Given the description of an element on the screen output the (x, y) to click on. 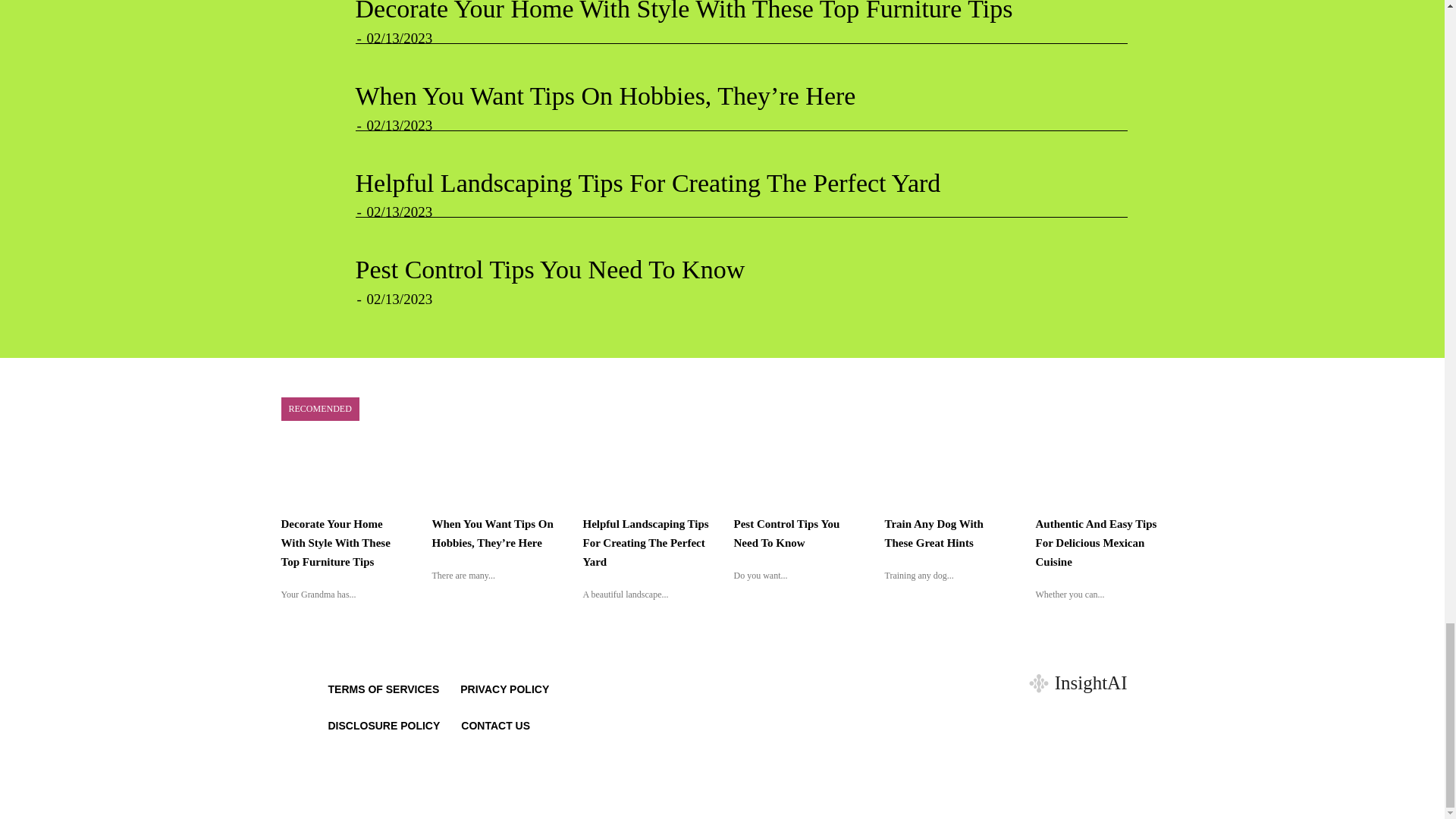
Decorate Your Home With Style With These Top Furniture Tips (335, 542)
Decorate Your Home With Style With These Top Furniture Tips (683, 11)
Decorate Your Home With Style With These Top Furniture Tips (683, 11)
Helpful Landscaping Tips For Creating The Perfect Yard (647, 182)
Helpful Landscaping Tips For Creating The Perfect Yard (647, 182)
Pest Control Tips You Need To Know (549, 269)
